Given the description of an element on the screen output the (x, y) to click on. 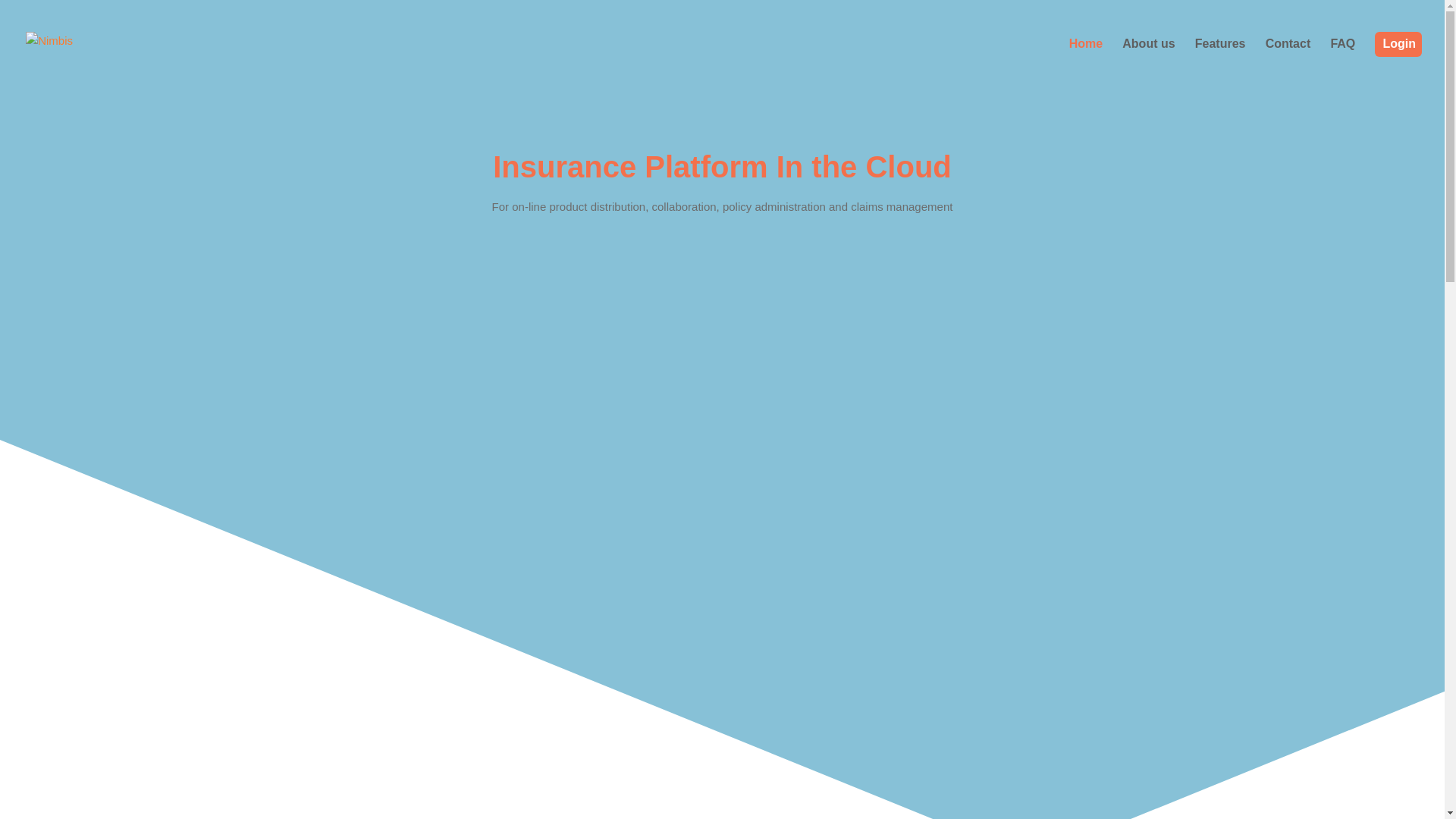
About us (1148, 59)
Features (1220, 59)
Contact (1288, 59)
